Given the description of an element on the screen output the (x, y) to click on. 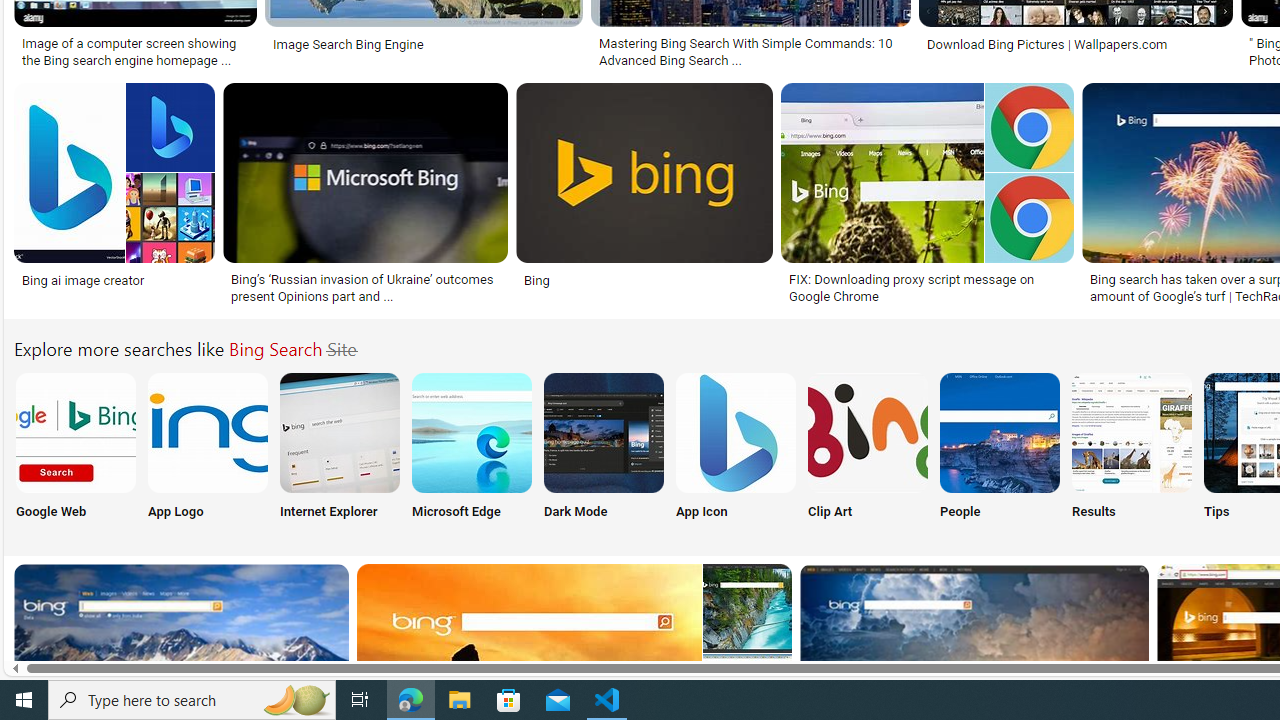
Internet Explorer Bing Search (339, 432)
Bing Search Results Results (1131, 450)
Google Web Search Bing Google Web (75, 450)
Bing Clip ART SEARCH (867, 432)
Bing Photo Search Microsoft Edge (472, 432)
Bing People Search (999, 432)
Bing Photo Search Microsoft Edge Microsoft Edge (472, 450)
Google Web (74, 450)
